Given the description of an element on the screen output the (x, y) to click on. 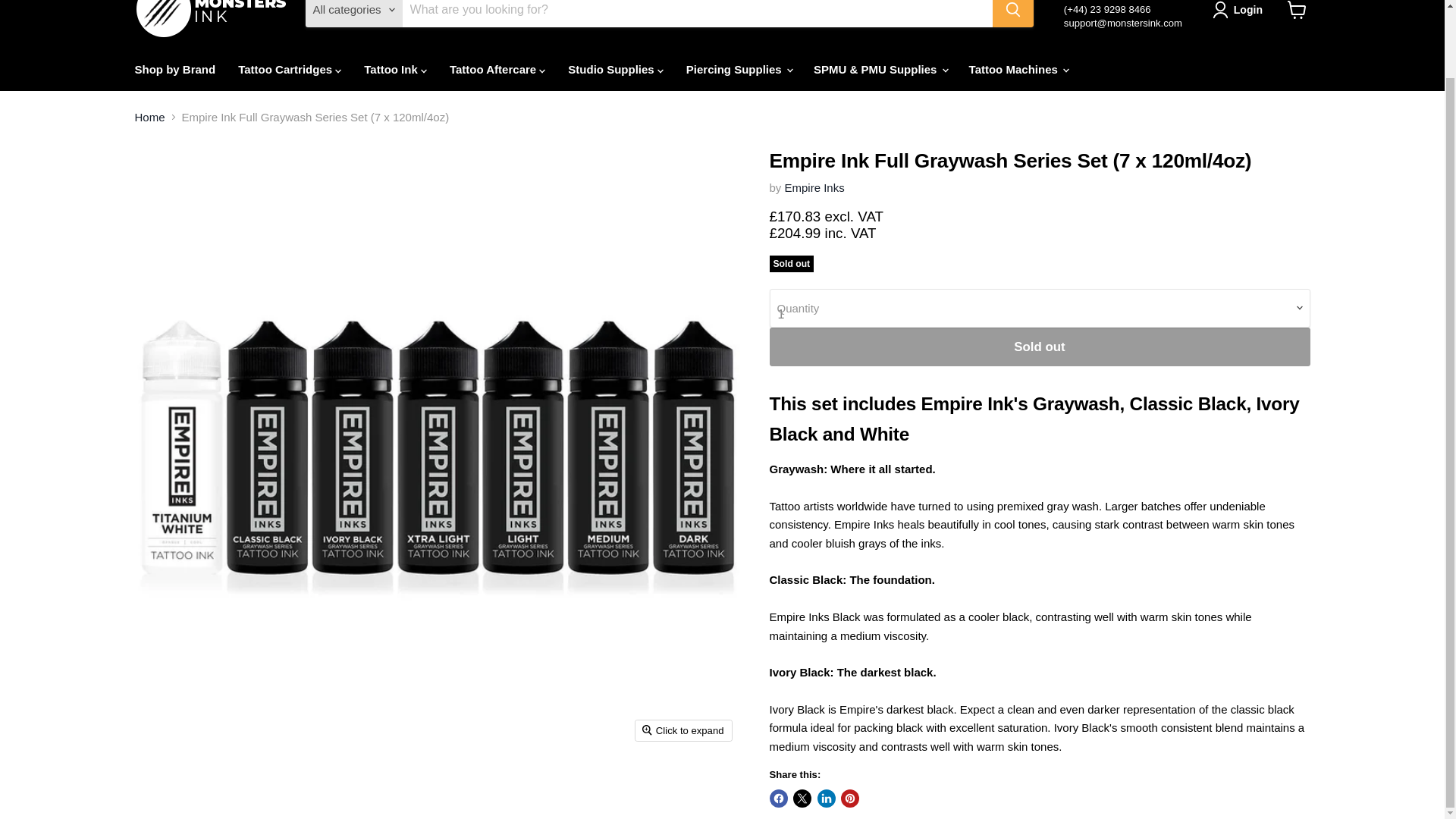
View cart (1296, 13)
Login (1240, 9)
Shop by Brand (174, 69)
Empire Inks (814, 187)
